Given the description of an element on the screen output the (x, y) to click on. 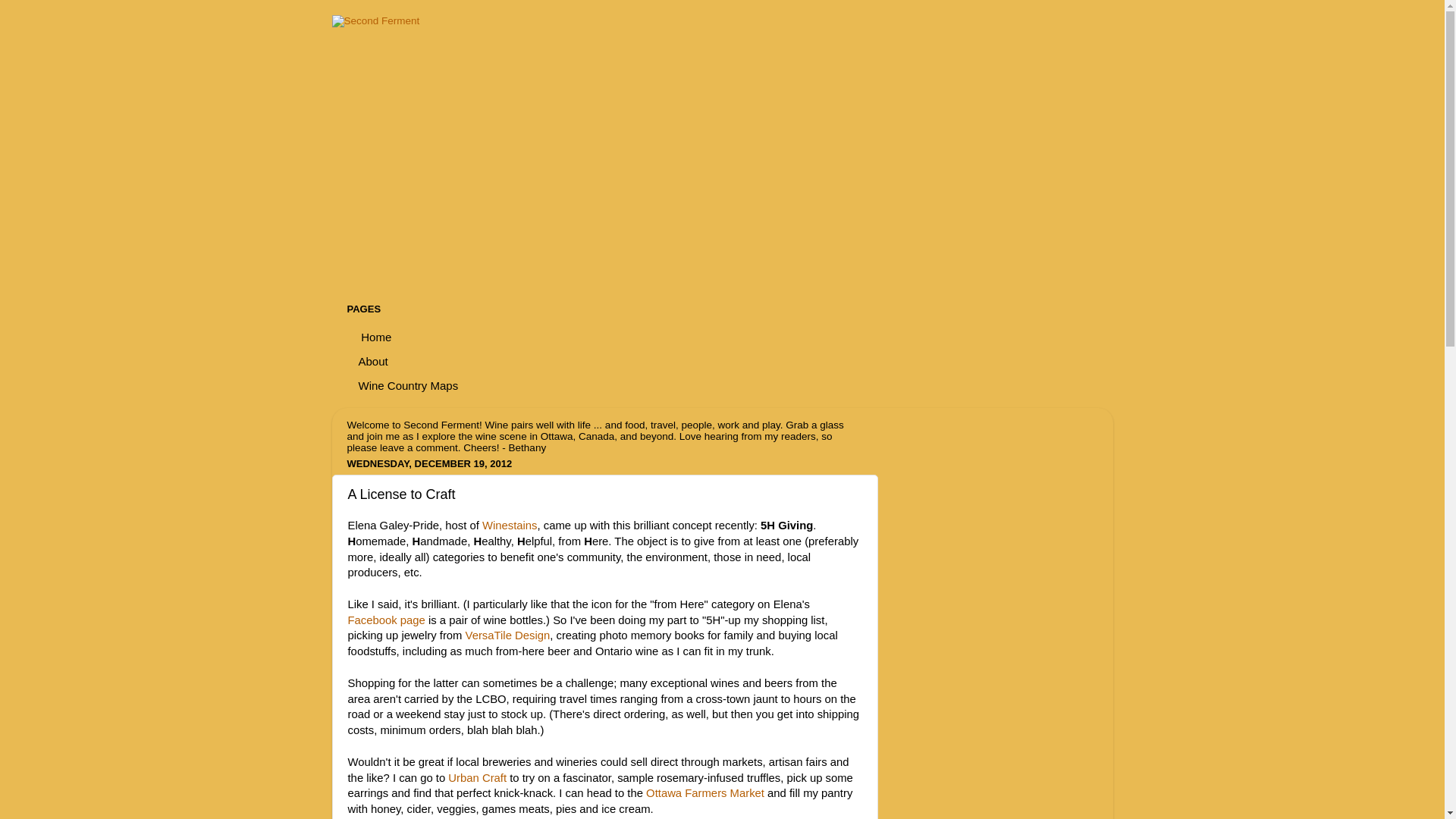
Facebook page Element type: text (385, 620)
Home Element type: text (375, 336)
Wine Country Maps Element type: text (408, 385)
Urban Craft Element type: text (477, 777)
About Element type: text (373, 360)
Winestains Element type: text (509, 525)
VersaTile Design Element type: text (507, 635)
Ottawa Farmers Market Element type: text (705, 793)
